Given the description of an element on the screen output the (x, y) to click on. 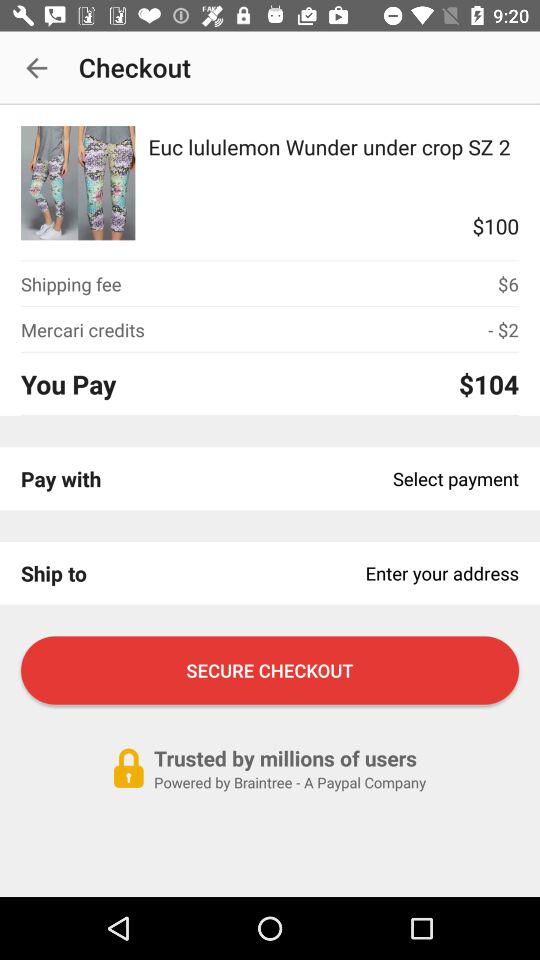
select the app to the left of the checkout item (36, 67)
